Given the description of an element on the screen output the (x, y) to click on. 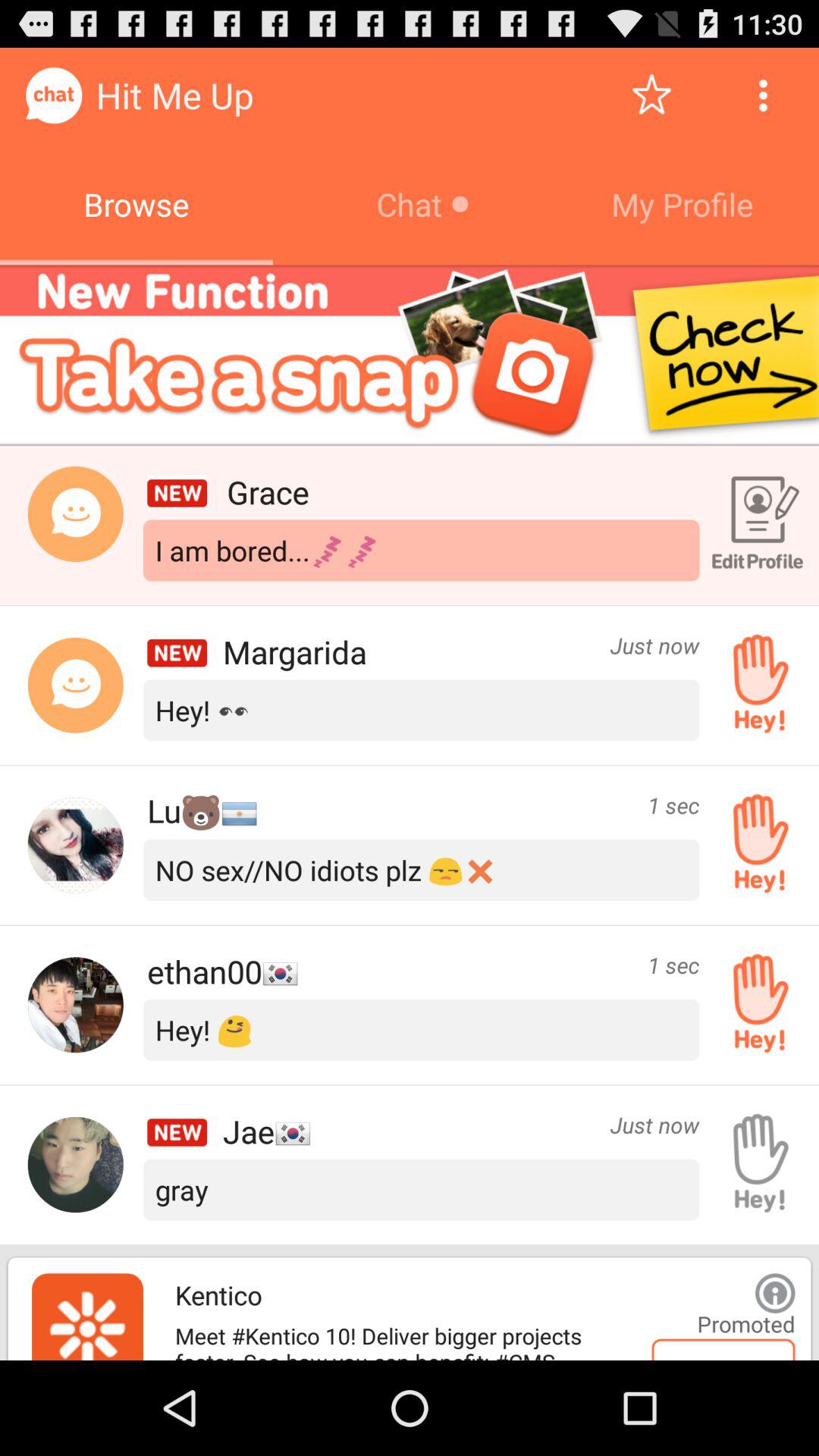
take a picture (409, 355)
